Given the description of an element on the screen output the (x, y) to click on. 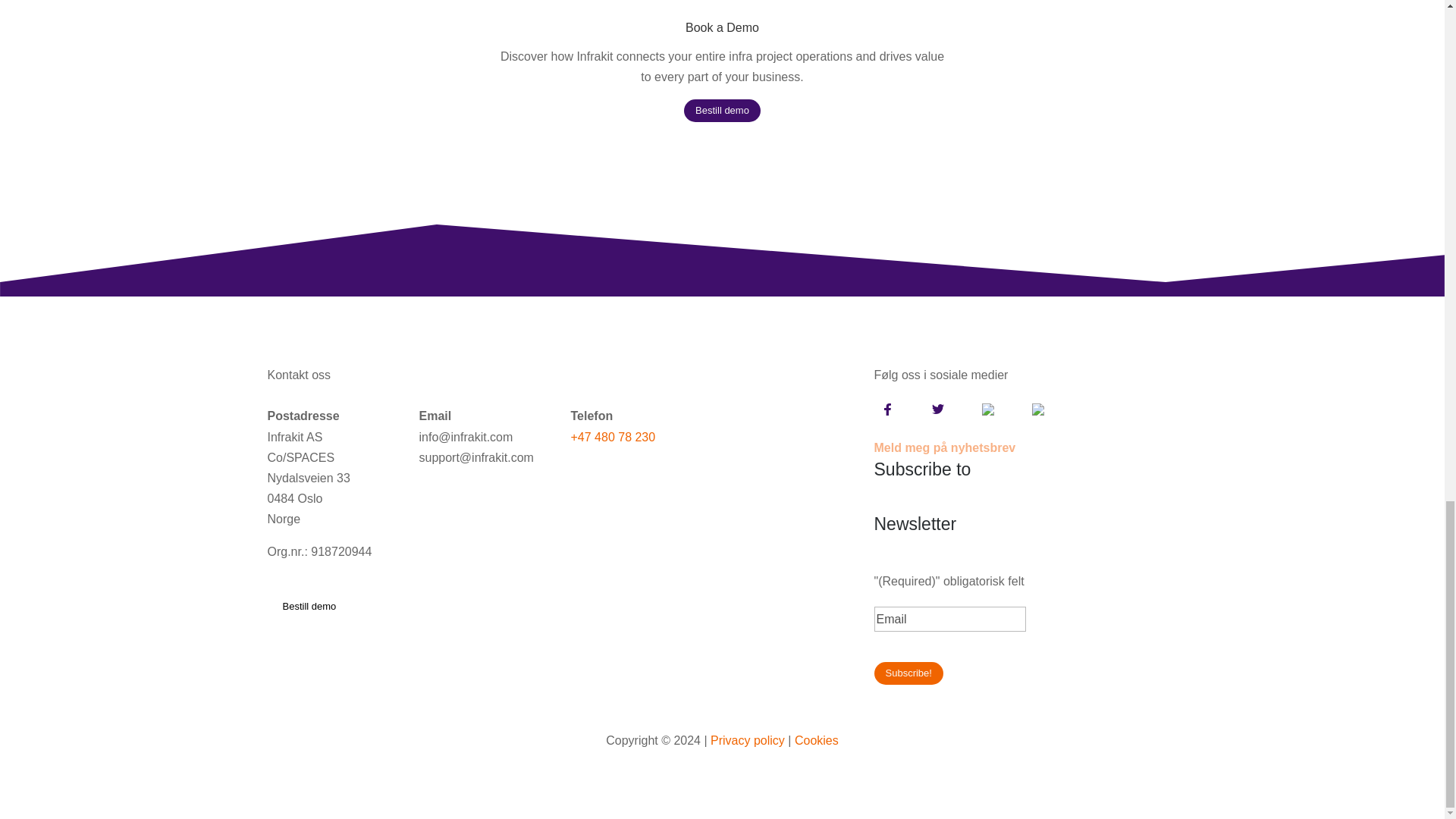
Cookies (816, 739)
Bestill demo (308, 606)
Privacy policy (747, 739)
Subscribe! (907, 672)
Subscribe! (907, 672)
Bestill demo (722, 110)
footer (722, 261)
